Given the description of an element on the screen output the (x, y) to click on. 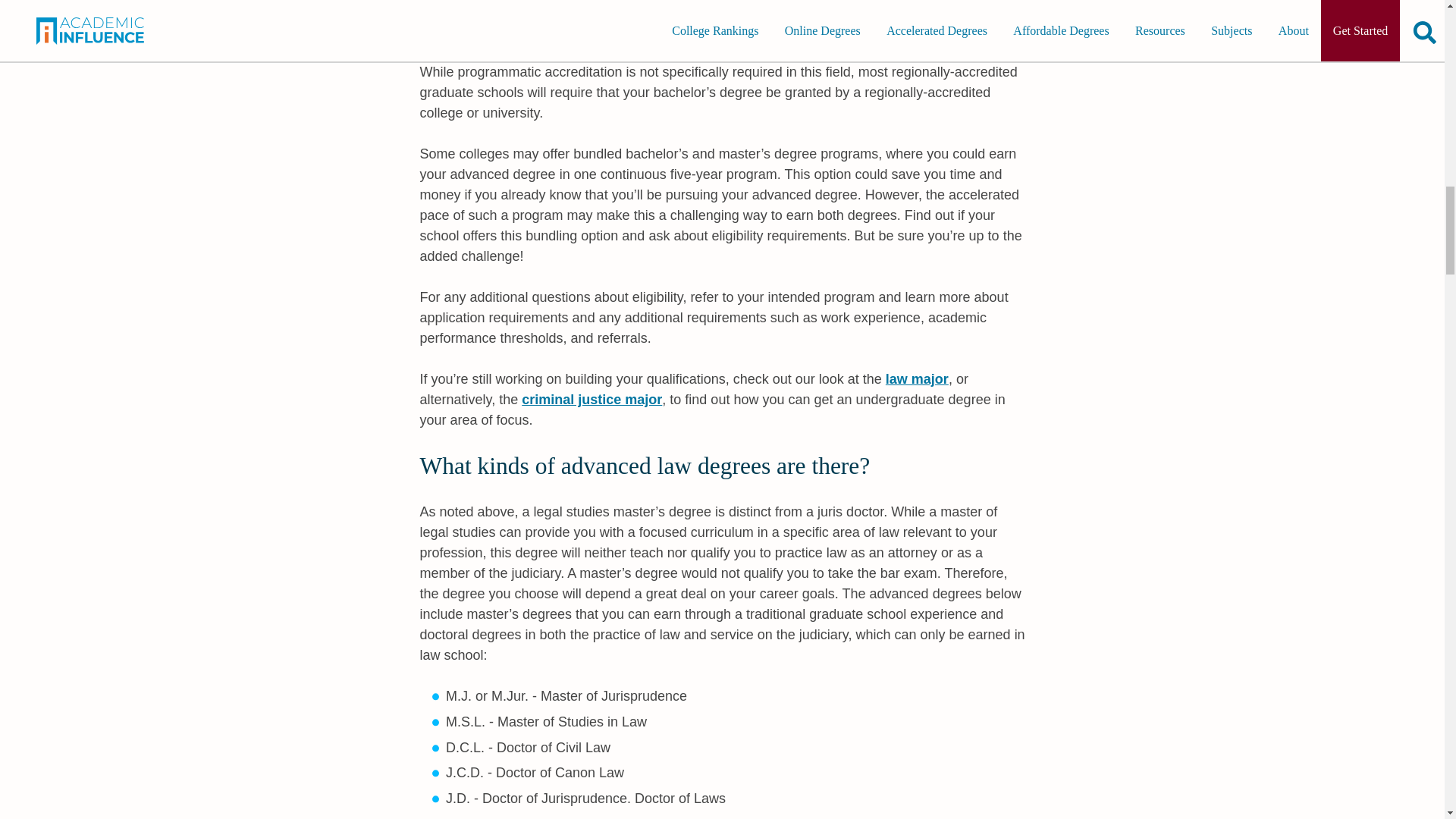
criminal justice major (591, 399)
law major (917, 378)
